Given the description of an element on the screen output the (x, y) to click on. 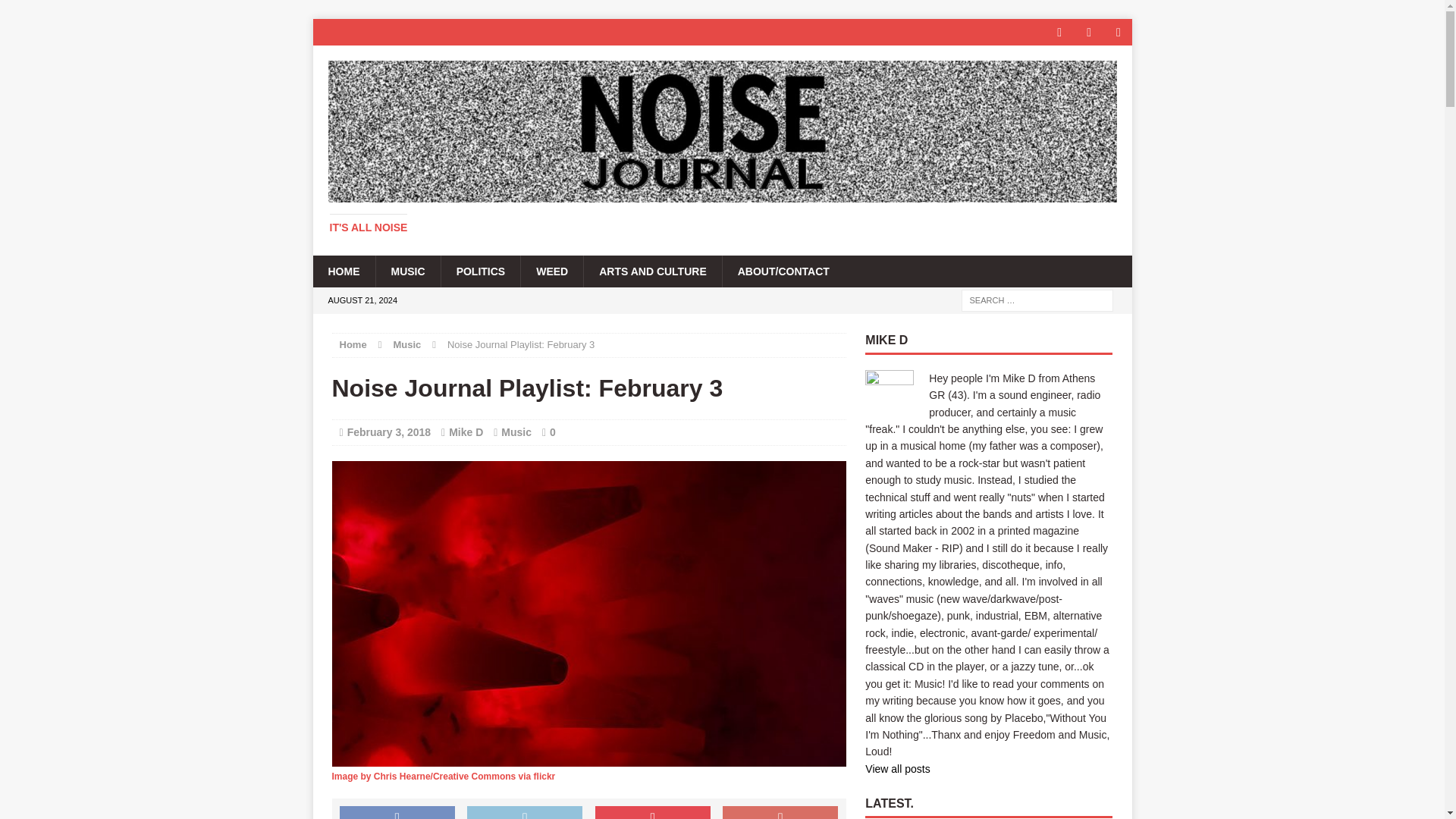
Weed (551, 271)
ARTS AND CULTURE (652, 271)
Music (406, 271)
SoundCloud (1118, 31)
Music (515, 431)
Search (37, 11)
Arts and Culture (652, 271)
Politics (481, 271)
Facebook (1059, 31)
